Given the description of an element on the screen output the (x, y) to click on. 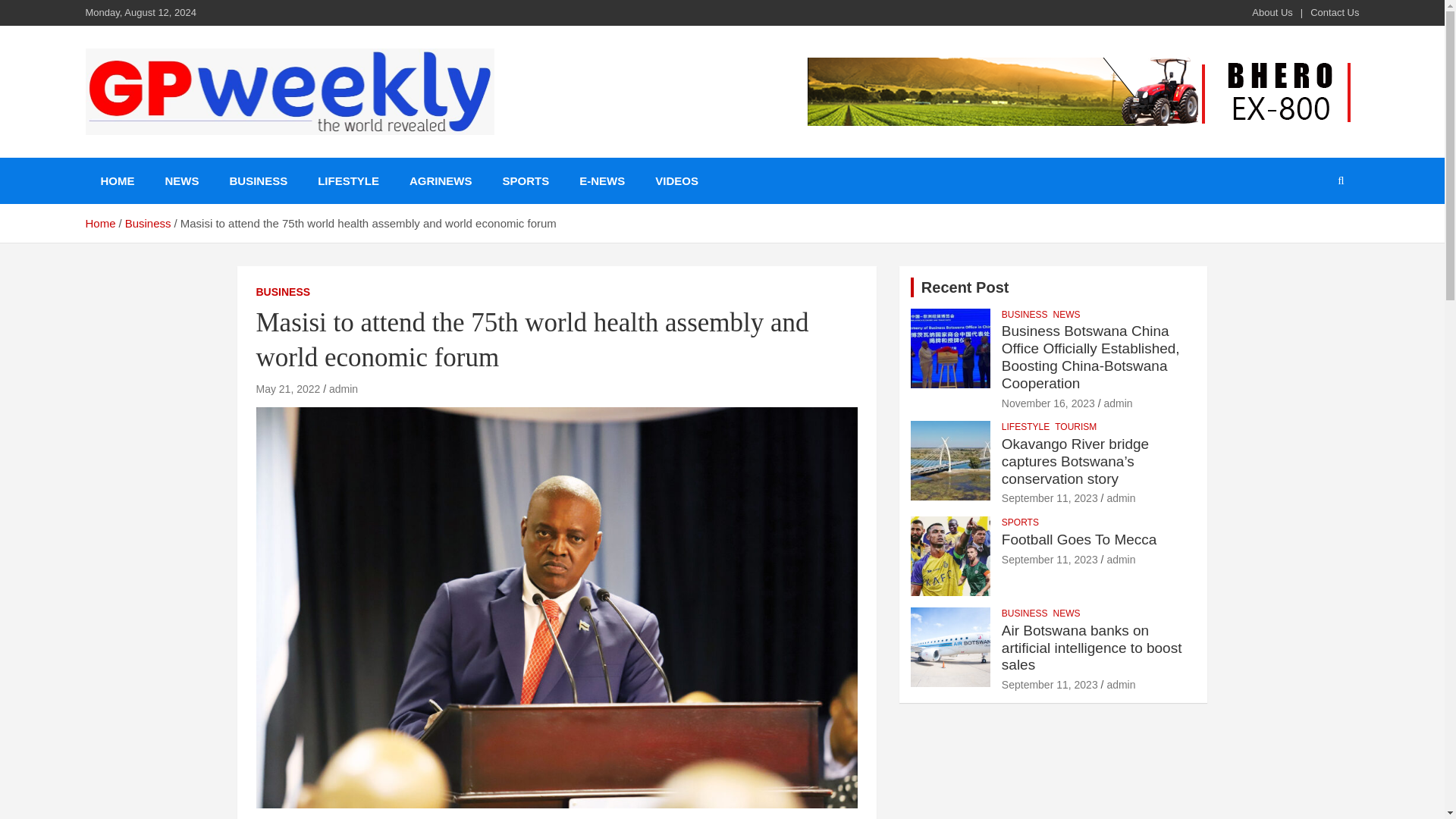
Business (148, 223)
admin (343, 388)
About Us (1272, 12)
Home (99, 223)
NEWS (181, 180)
November 16, 2023 (1047, 403)
HOME (116, 180)
E-NEWS (602, 180)
Air Botswana banks on artificial intelligence to boost sales (1049, 684)
BUSINESS (283, 292)
